Given the description of an element on the screen output the (x, y) to click on. 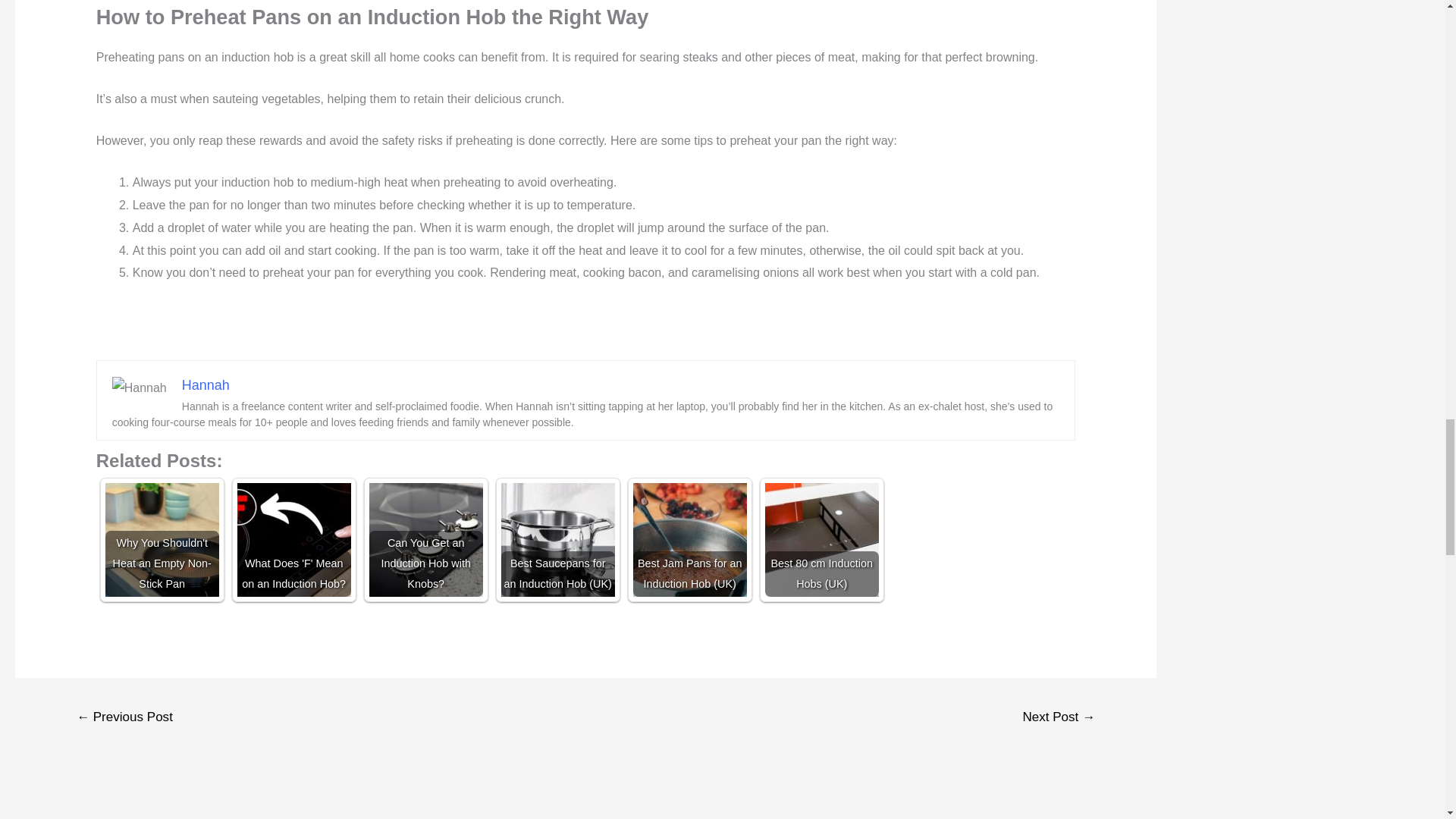
Hannah (206, 385)
What Does 'F' Mean on an Induction Hob? (293, 539)
Why You Shouldn't Heat an Empty Non-Stick Pan (161, 539)
What Does 'F' Mean on an Induction Hob? (293, 539)
Can You Get an Induction Hob with Knobs? (426, 539)
Why Does My Induction Hob Burn My Pans? (1059, 718)
Why You Shouldn't Heat an Empty Non-Stick Pan (161, 539)
Can You Get an Induction Hob with Knobs? (426, 539)
How Long Can You Keep Cauliflower Cheese in the Fridge? (124, 718)
